Given the description of an element on the screen output the (x, y) to click on. 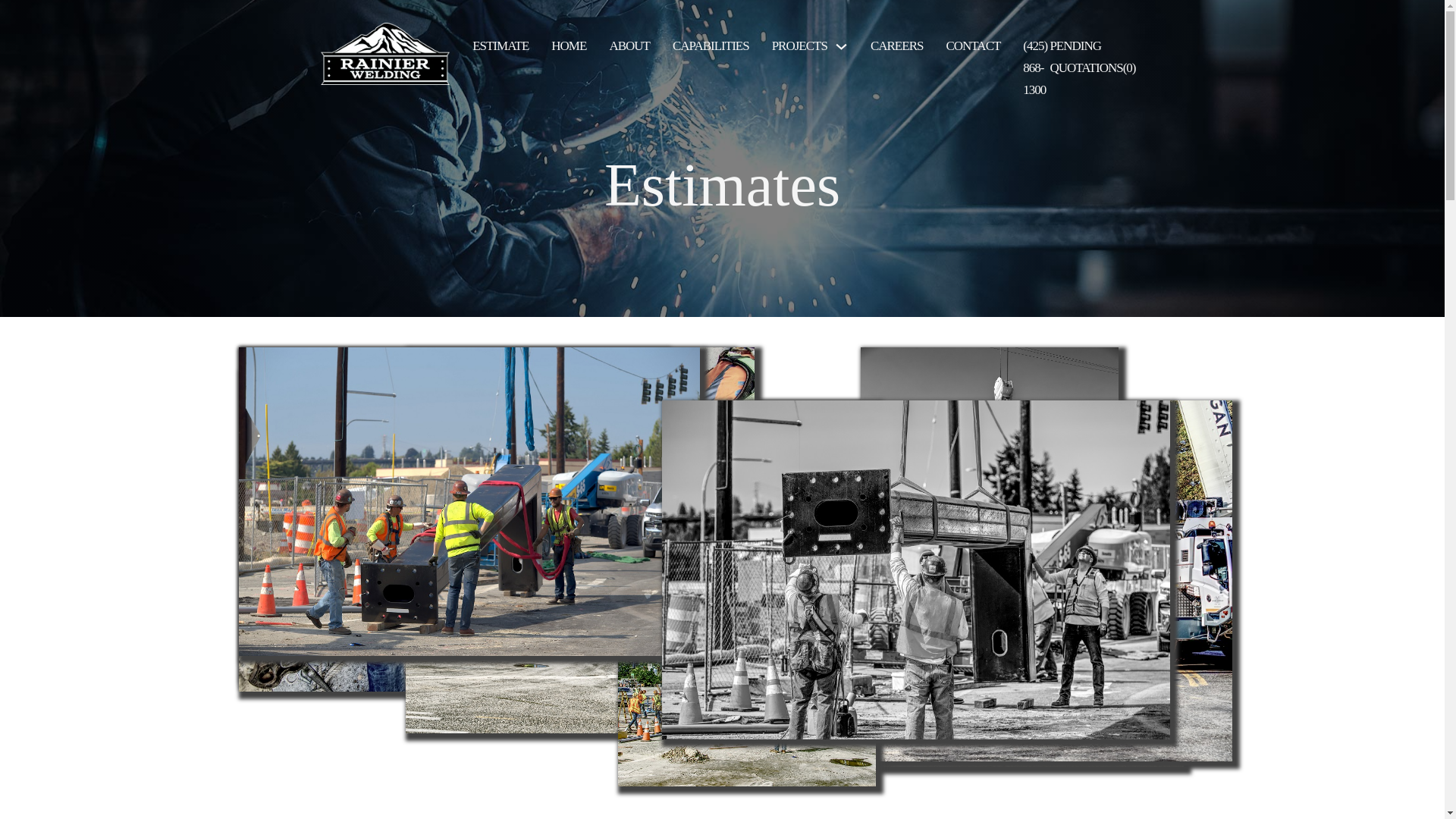
CAPABILITIES (710, 46)
CAREERS (896, 46)
CONTACT (972, 46)
ESTIMATE (499, 46)
ABOUT (628, 46)
HOME (568, 46)
PROJECTS (799, 46)
